Given the description of an element on the screen output the (x, y) to click on. 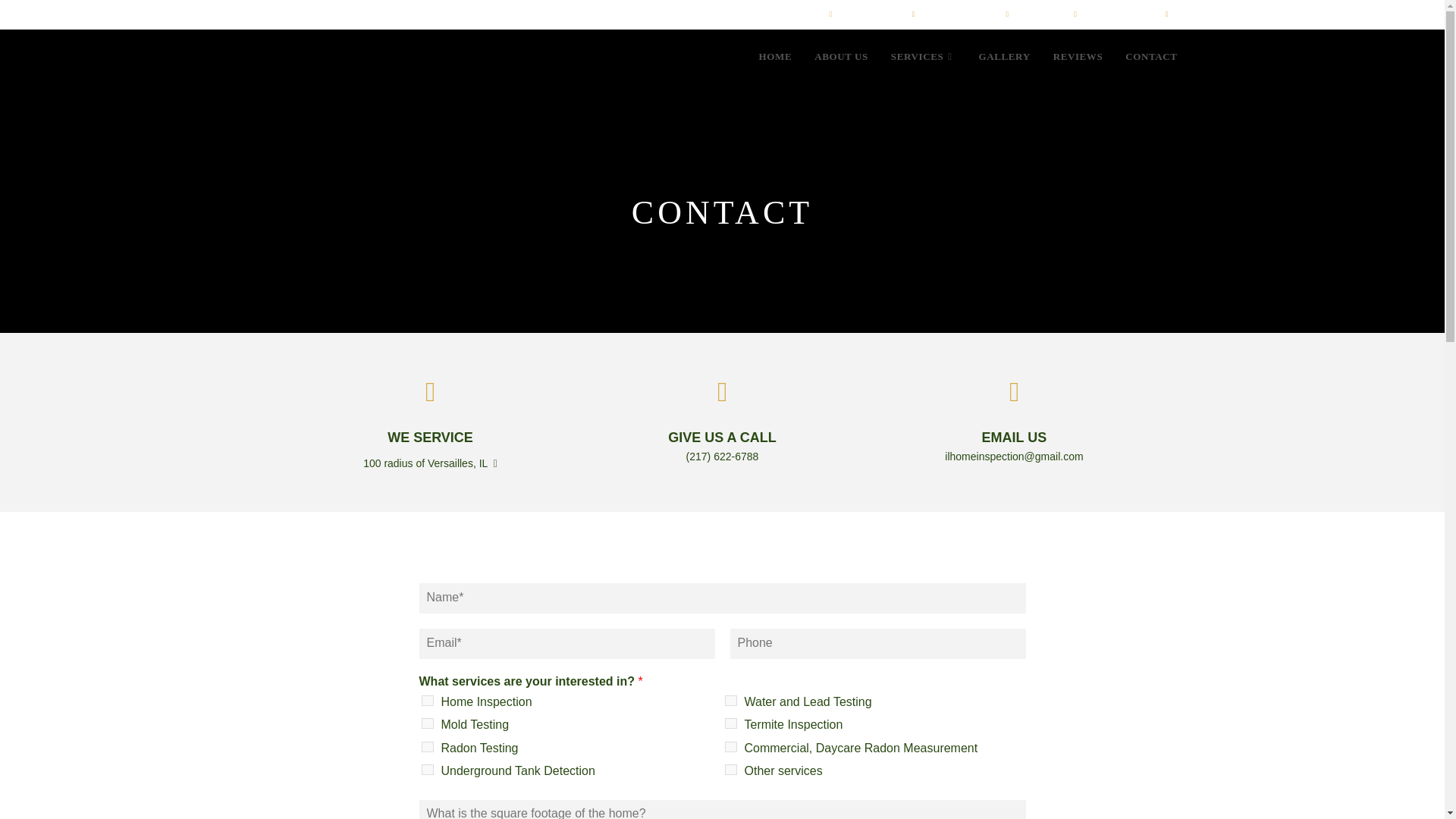
Water and Lead Testing (730, 700)
COVID-19 Info (1103, 13)
Home Inspection (427, 700)
Other services (730, 769)
SERVICES (923, 56)
100 radius of Versailles, IL (429, 423)
HOME (775, 56)
Termite Inspection (730, 723)
CONTACT (1150, 56)
REVIEWS (1078, 56)
